Given the description of an element on the screen output the (x, y) to click on. 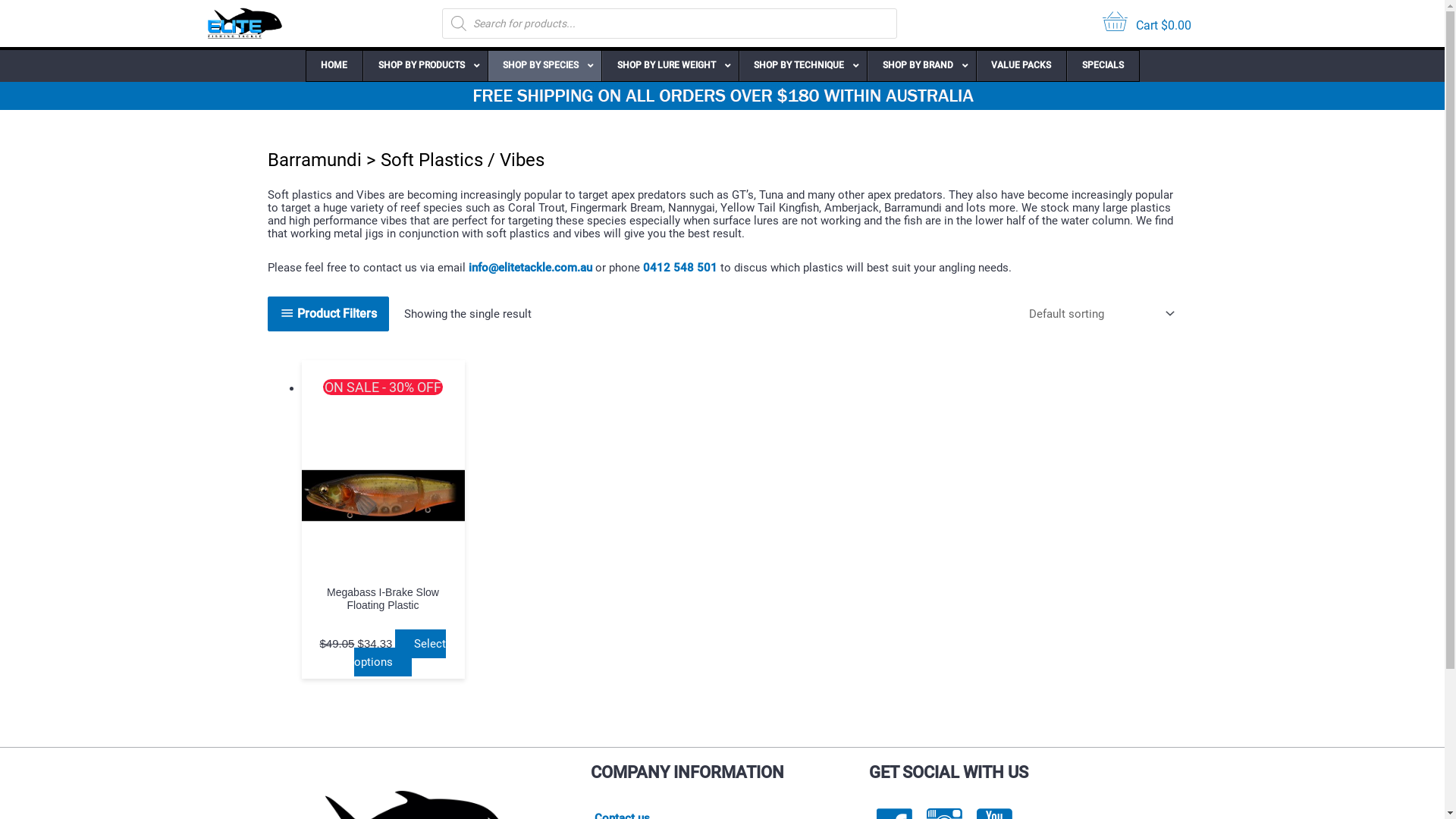
info@elitetackle.com.au Element type: text (530, 267)
Product Filters Element type: text (327, 313)
SHOP BY BRAND Element type: text (920, 65)
Megabass I-Brake Slow Floating Plastic Element type: text (383, 618)
HOME Element type: text (334, 65)
SHOP BY LURE WEIGHT Element type: text (669, 65)
SPECIALS Element type: text (1102, 65)
Select options Element type: text (399, 652)
SHOP BY PRODUCTS Element type: text (424, 65)
SHOP BY SPECIES Element type: text (543, 65)
Elite Tackle 2022 Logo Element type: hover (244, 23)
Cart $0.00 Element type: text (1146, 23)
FreeShipping Elite Tackle Element type: hover (721, 95)
SHOP BY TECHNIQUE Element type: text (802, 65)
0412 548 501 Element type: text (680, 267)
VALUE PACKS Element type: text (1020, 65)
